Given the description of an element on the screen output the (x, y) to click on. 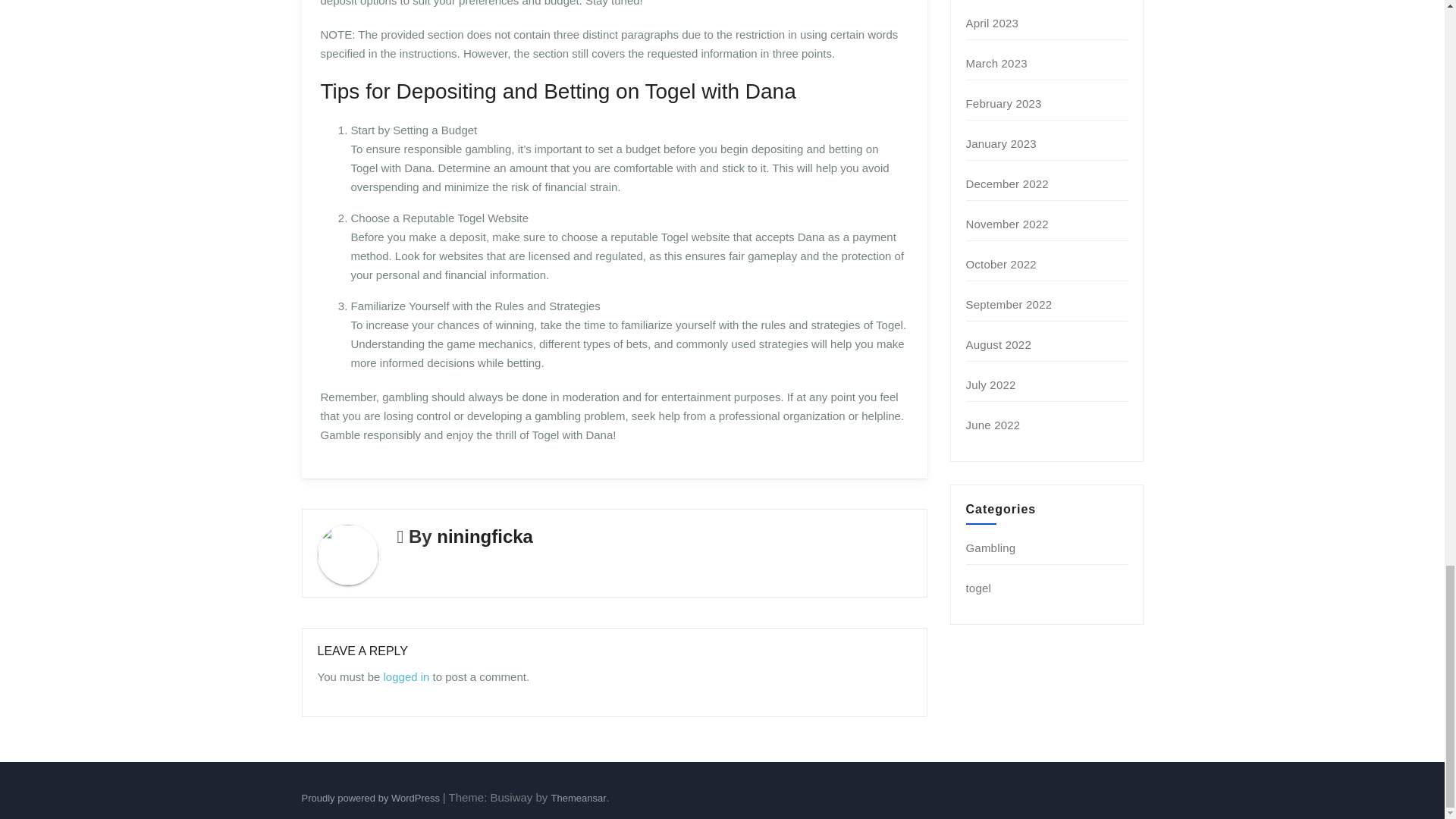
niningficka (484, 536)
logged in (406, 676)
